Given the description of an element on the screen output the (x, y) to click on. 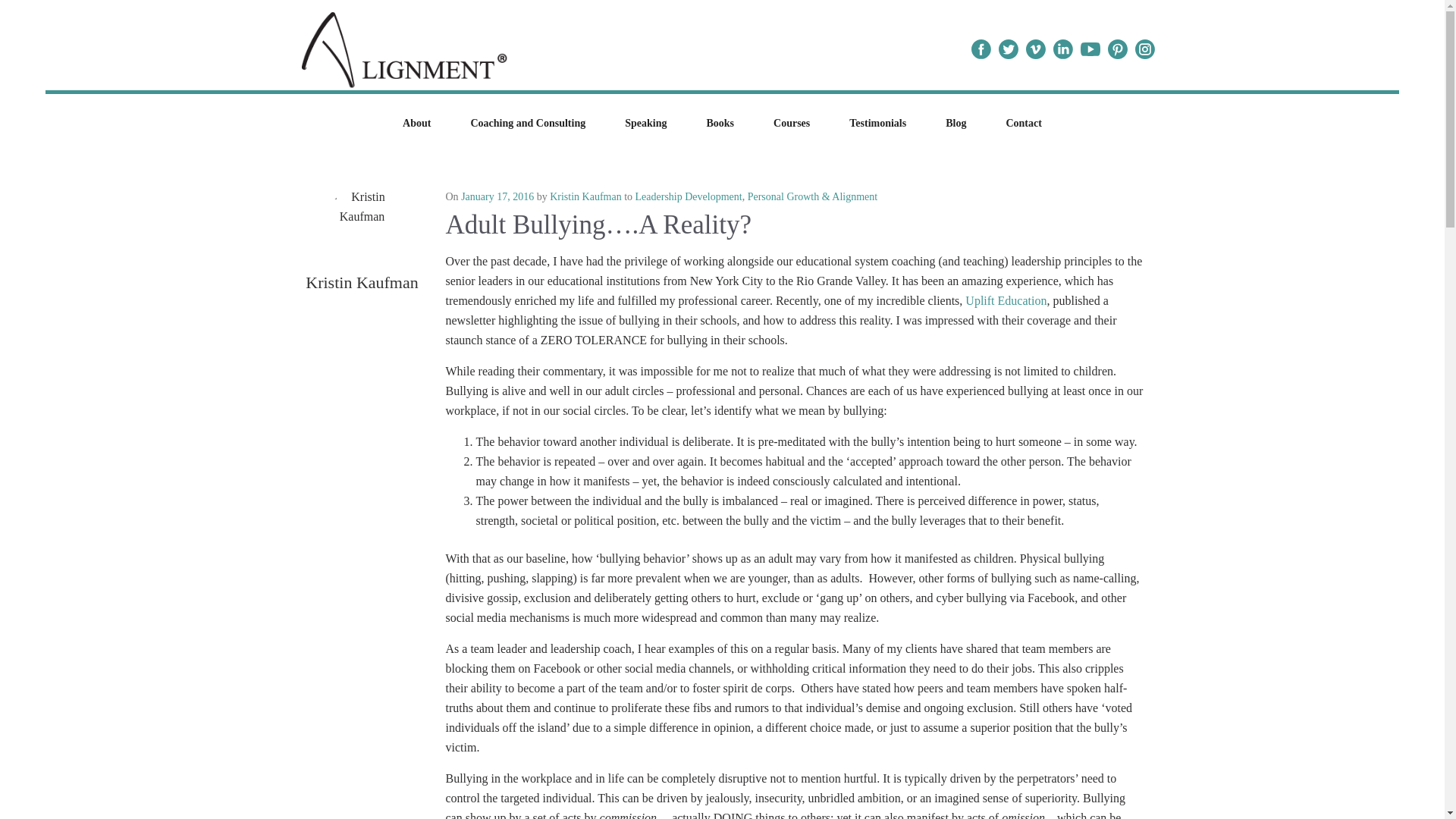
Pinterest (1117, 48)
About (415, 123)
Linkedin (1063, 48)
Facebook (981, 48)
Youtube (1090, 48)
Coaching and Consulting (527, 123)
Vimeo (1035, 48)
Twitter (1008, 48)
Instagram (1144, 48)
